Given the description of an element on the screen output the (x, y) to click on. 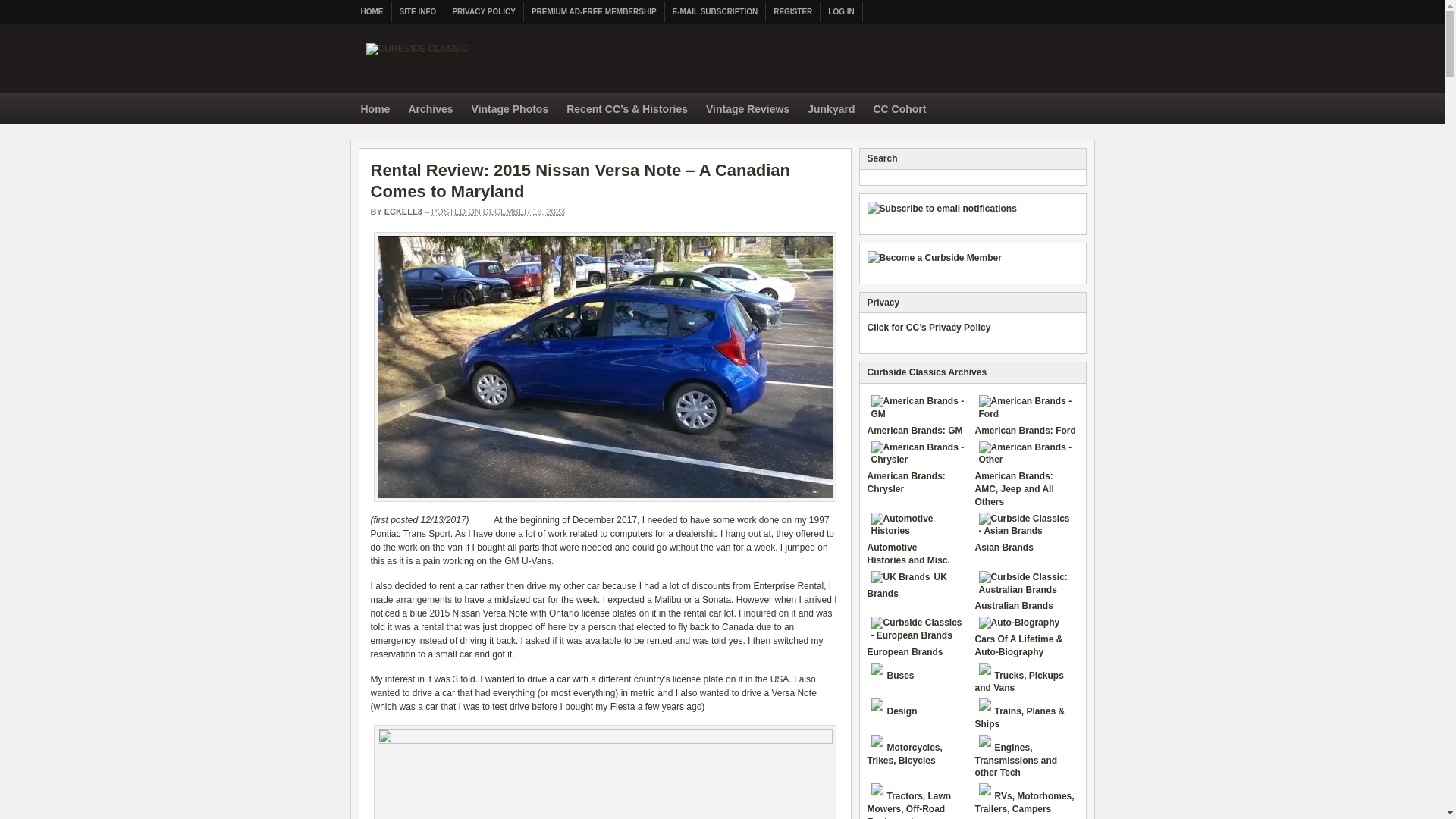
SITE INFO (417, 12)
Vintage Photos (510, 110)
PREMIUM AD-FREE MEMBERSHIP (594, 12)
Archives (429, 110)
2023-12-16T12:00:48-08:00 (497, 211)
PRIVACY POLICY (484, 12)
REGISTER (793, 12)
Home (375, 110)
E-MAIL SUBSCRIPTION (716, 12)
Curbside Classic (416, 56)
eckell3 (403, 211)
Curbside Classic RSS Feed (1078, 108)
HOME (372, 12)
LOG IN (841, 12)
